Given the description of an element on the screen output the (x, y) to click on. 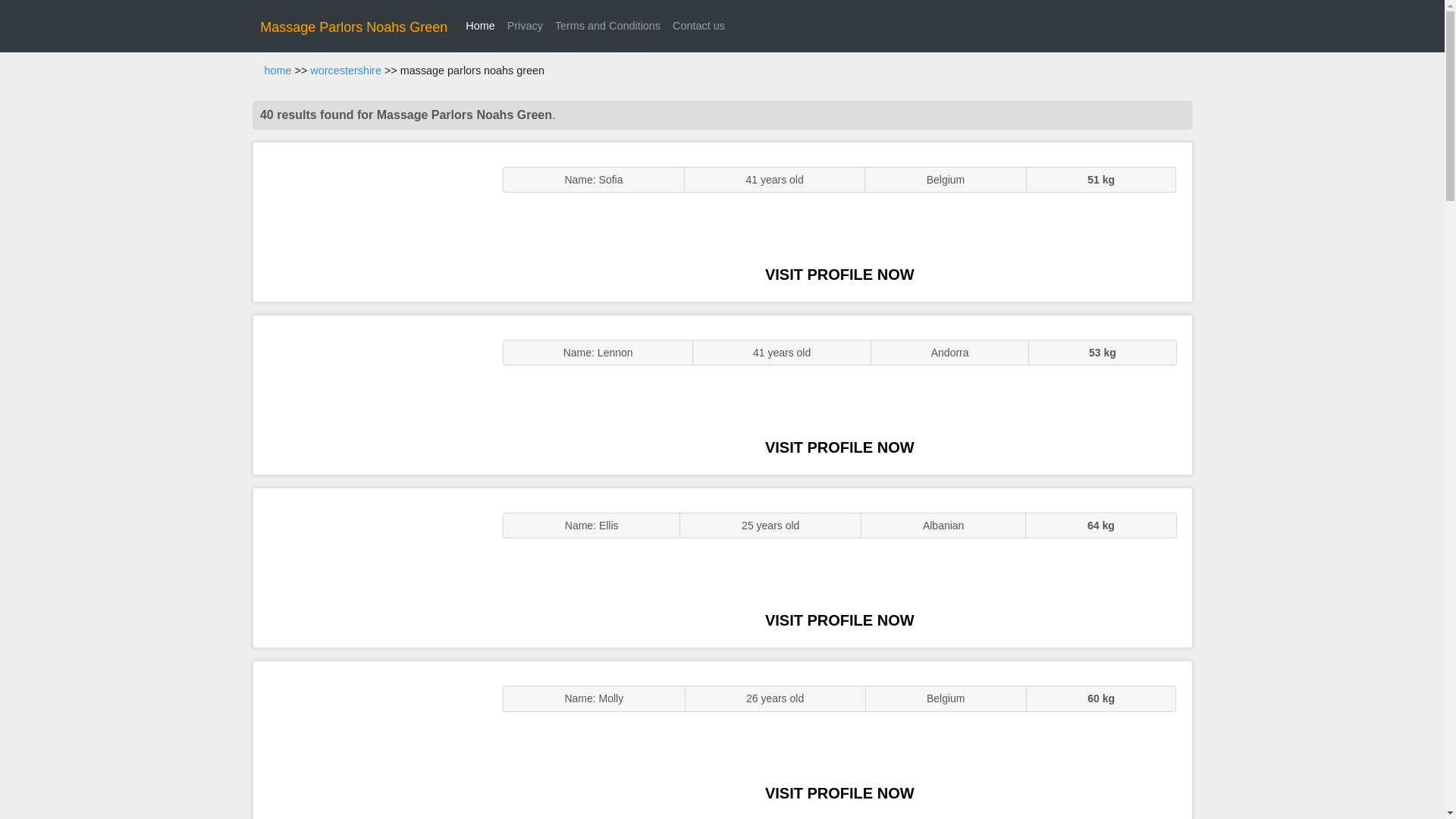
VISIT PROFILE NOW (839, 274)
GFE (370, 395)
Terms and Conditions (607, 25)
VISIT PROFILE NOW (839, 619)
worcestershire (345, 70)
Contact us (698, 25)
VISIT PROFILE NOW (839, 446)
Sluts (370, 739)
Massage Parlors Noahs Green (353, 27)
VISIT PROFILE NOW (839, 792)
